Given the description of an element on the screen output the (x, y) to click on. 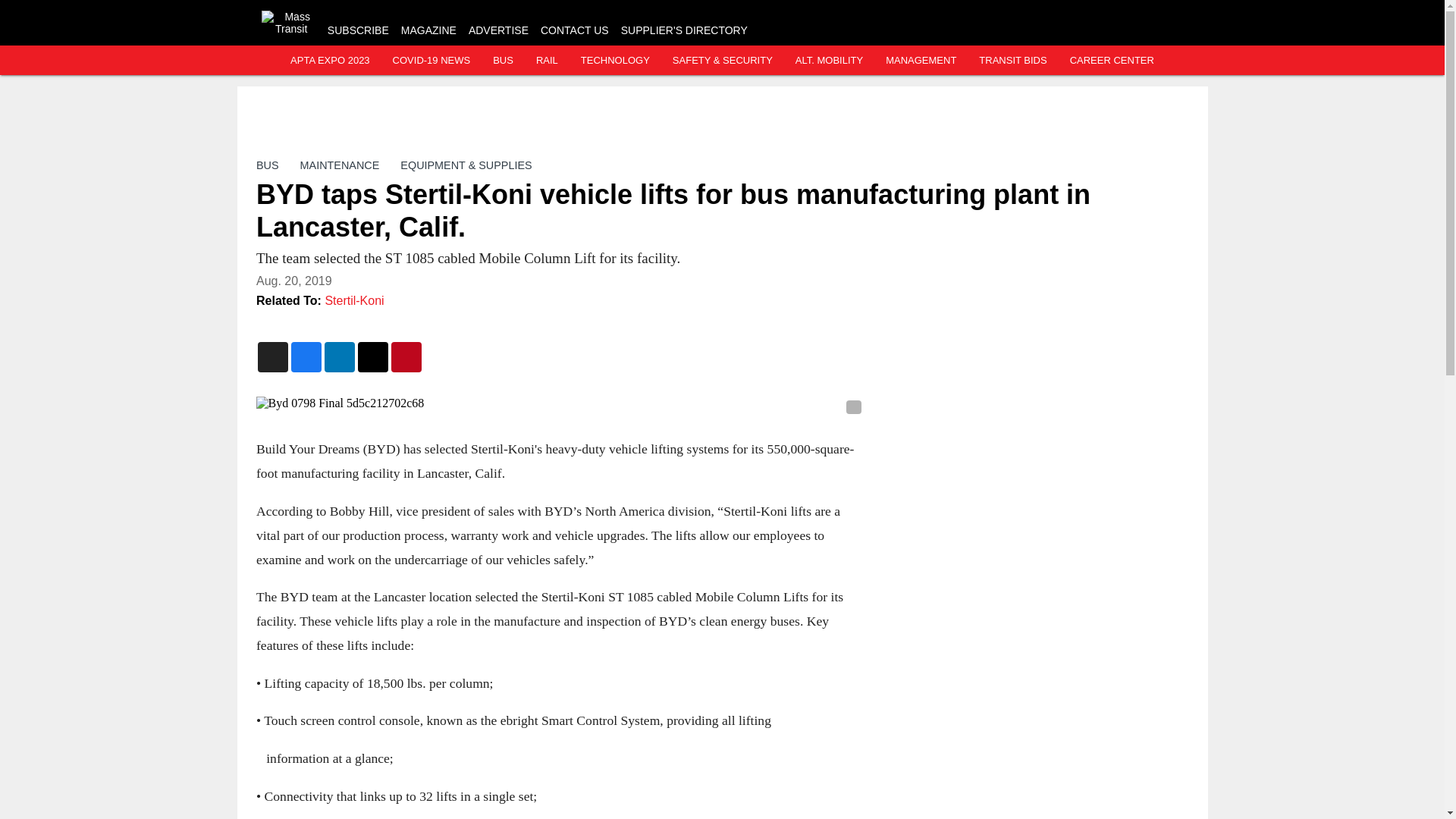
Stertil-Koni (354, 300)
SUBSCRIBE (357, 30)
RAIL (546, 60)
CAREER CENTER (1112, 60)
MAGAZINE (429, 30)
TRANSIT BIDS (1012, 60)
BUS (267, 164)
MANAGEMENT (920, 60)
MAINTENANCE (338, 164)
SUPPLIER'S DIRECTORY (684, 30)
